Given the description of an element on the screen output the (x, y) to click on. 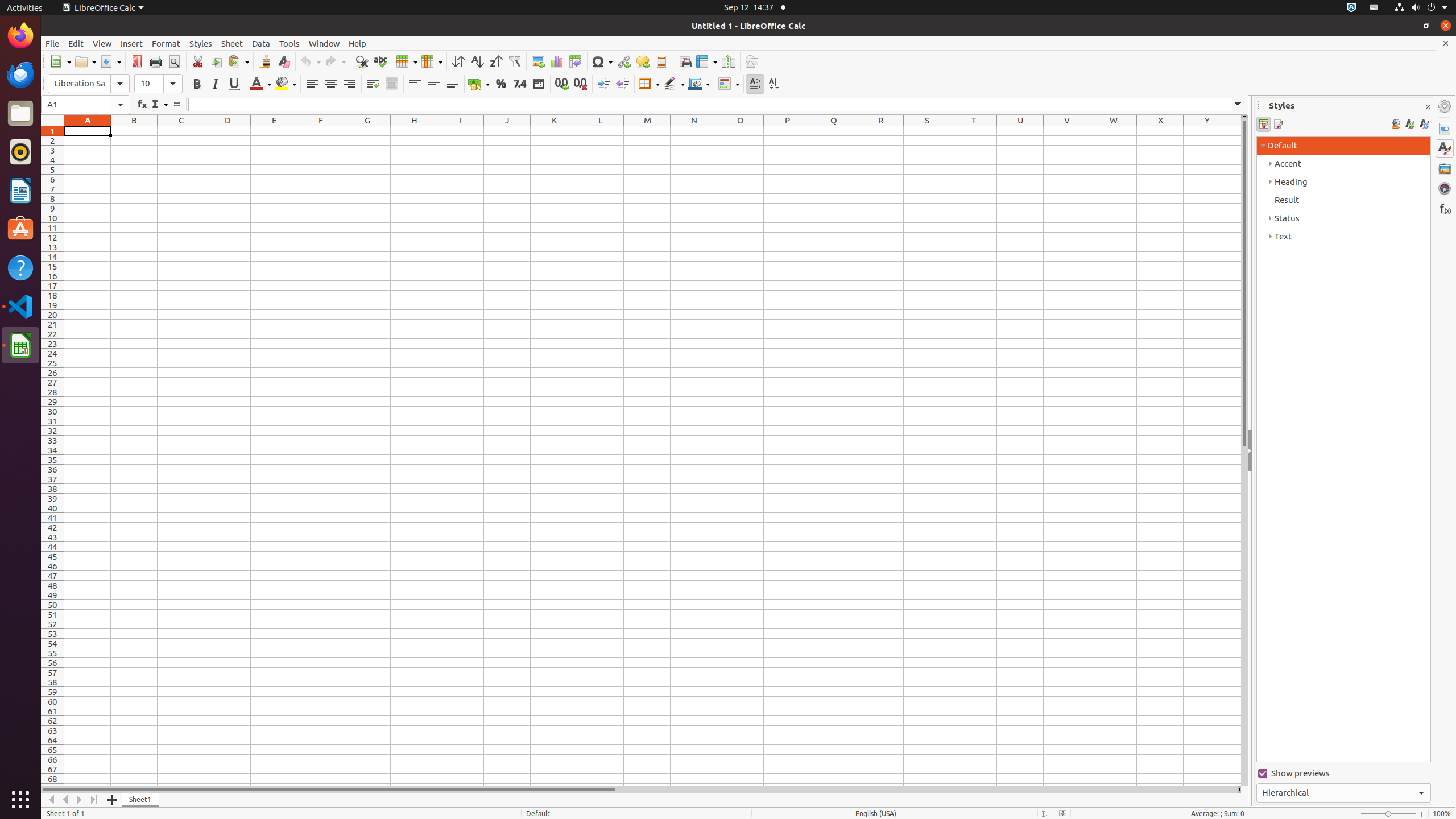
Functions Element type: radio-button (1444, 208)
Function Wizard Element type: push-button (141, 104)
Thunderbird Mail Element type: push-button (20, 74)
Font Color Element type: push-button (260, 83)
I1 Element type: table-cell (460, 130)
